Given the description of an element on the screen output the (x, y) to click on. 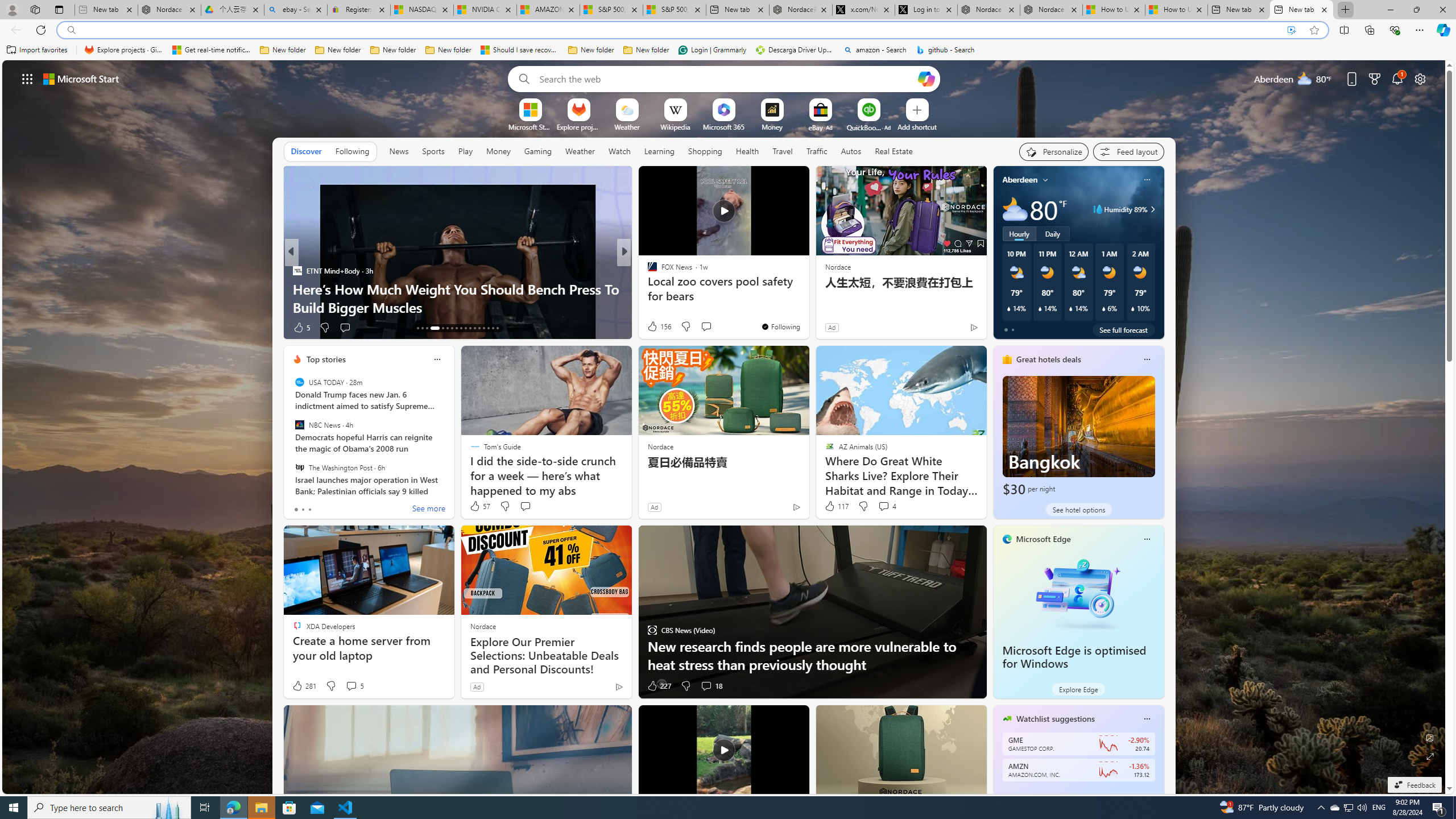
63 Like (652, 327)
Shopping (705, 151)
Mashable (647, 288)
